Given the description of an element on the screen output the (x, y) to click on. 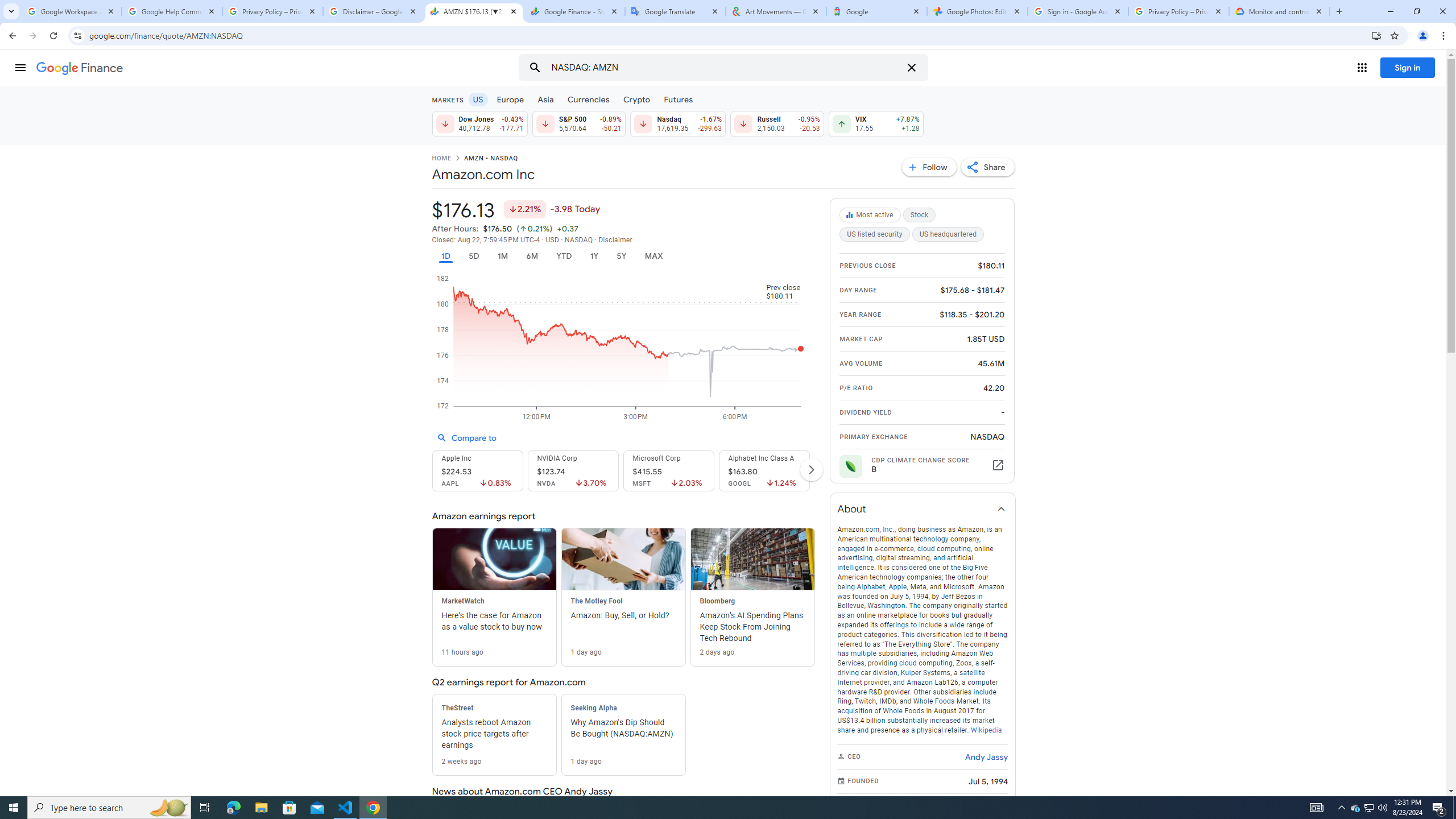
The Motley Fool Amazon: Buy, Sell, or Hold? 1 day ago (623, 596)
1M (501, 255)
S&P 500 5,570.64 Down by 0.89% -50.21 (578, 123)
Futures (678, 99)
Currencies (588, 99)
Google Translate (675, 11)
YTD (563, 255)
Install Google Finance (1376, 35)
